Given the description of an element on the screen output the (x, y) to click on. 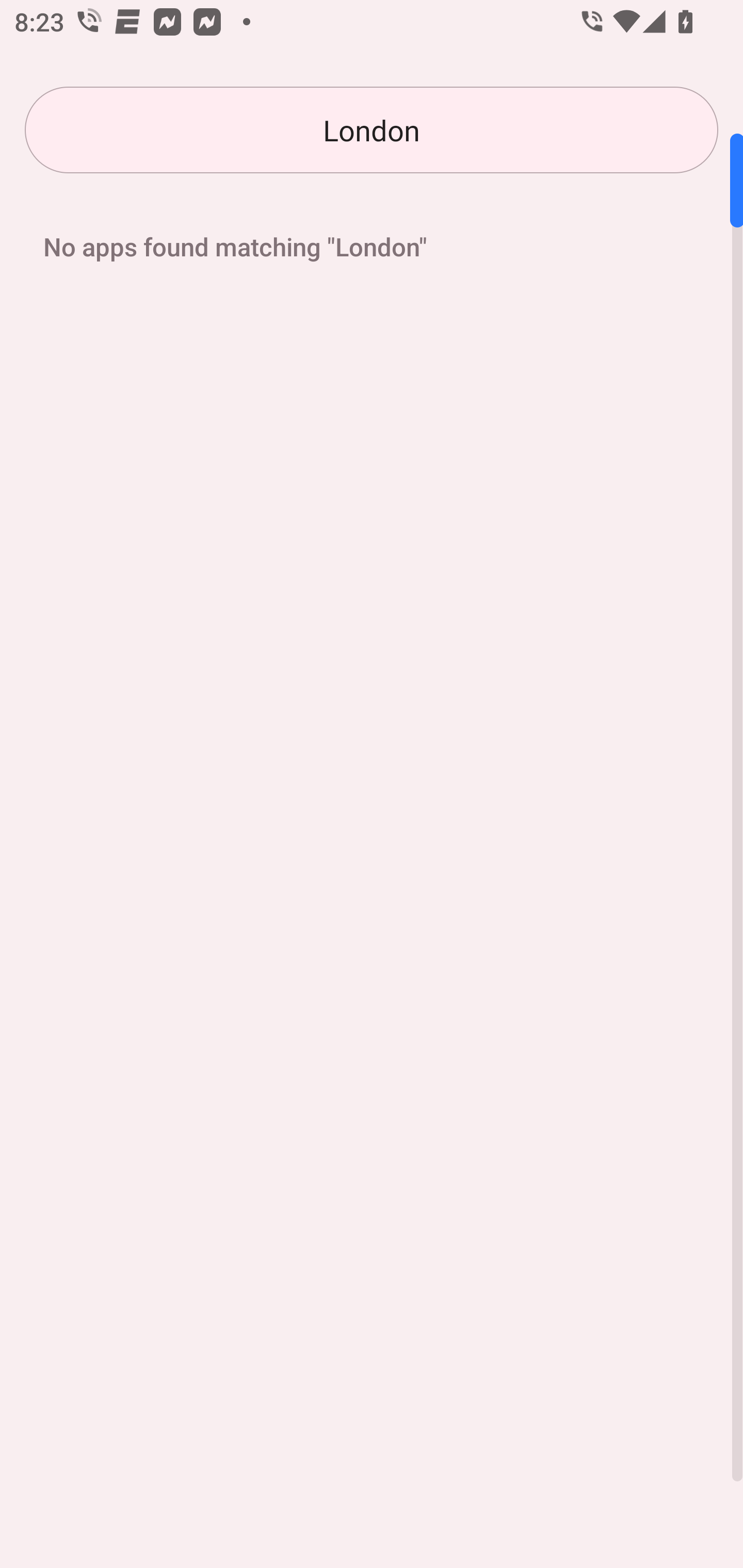
London (371, 130)
